Given the description of an element on the screen output the (x, y) to click on. 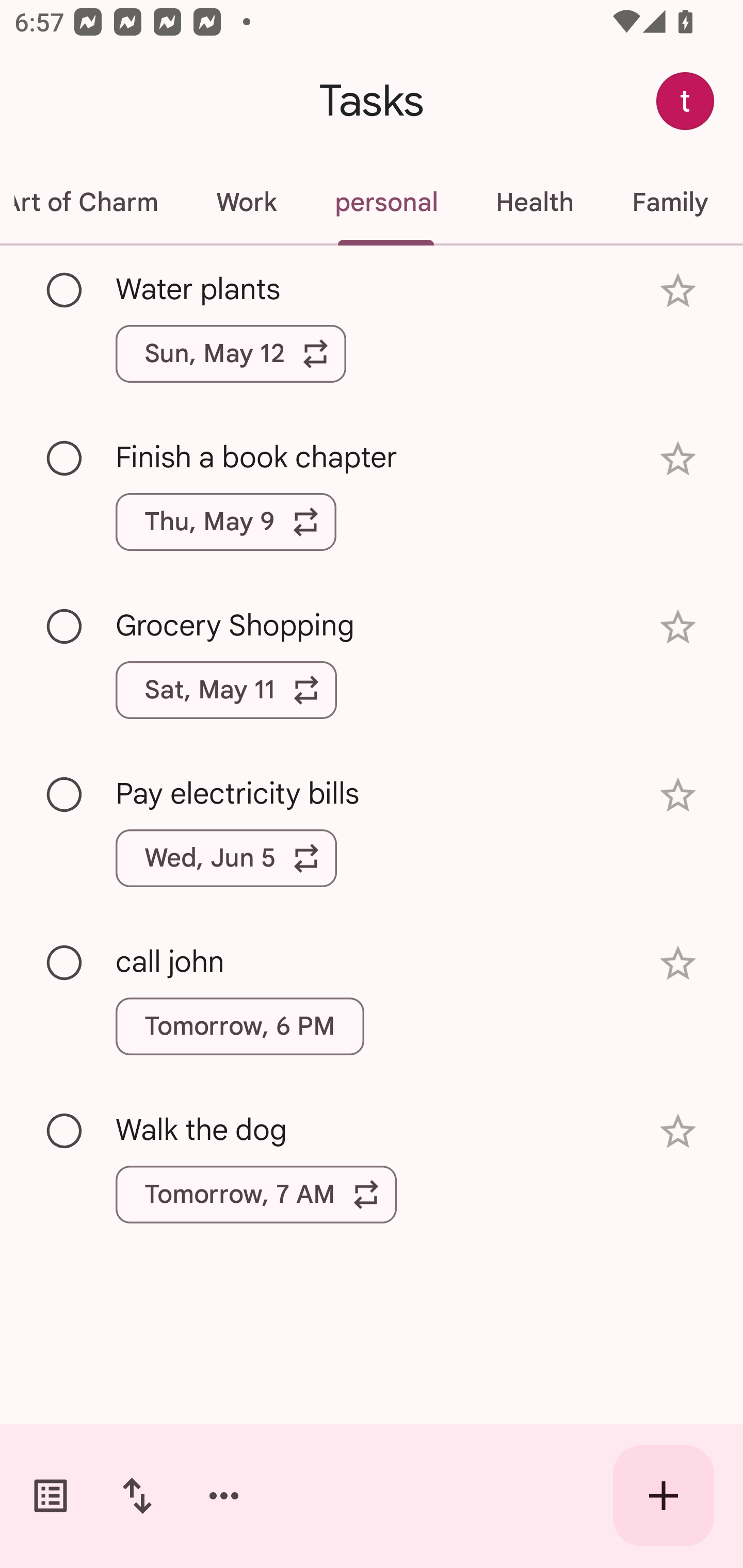
The Art of Charm (93, 202)
Work (245, 202)
Health (534, 202)
Family (669, 202)
Add star (677, 290)
Mark as complete (64, 290)
Sun, May 12 (230, 353)
Add star (677, 458)
Mark as complete (64, 459)
Thu, May 9 (225, 522)
Add star (677, 627)
Mark as complete (64, 627)
Sat, May 11 (225, 689)
Add star (677, 795)
Mark as complete (64, 794)
Wed, Jun 5 (225, 858)
Add star (677, 963)
Mark as complete (64, 963)
Tomorrow, 6 PM (239, 1026)
Add star (677, 1131)
Mark as complete (64, 1132)
Tomorrow, 7 AM (255, 1193)
Switch task lists (50, 1495)
Create new task (663, 1495)
Change sort order (136, 1495)
More options (223, 1495)
